Given the description of an element on the screen output the (x, y) to click on. 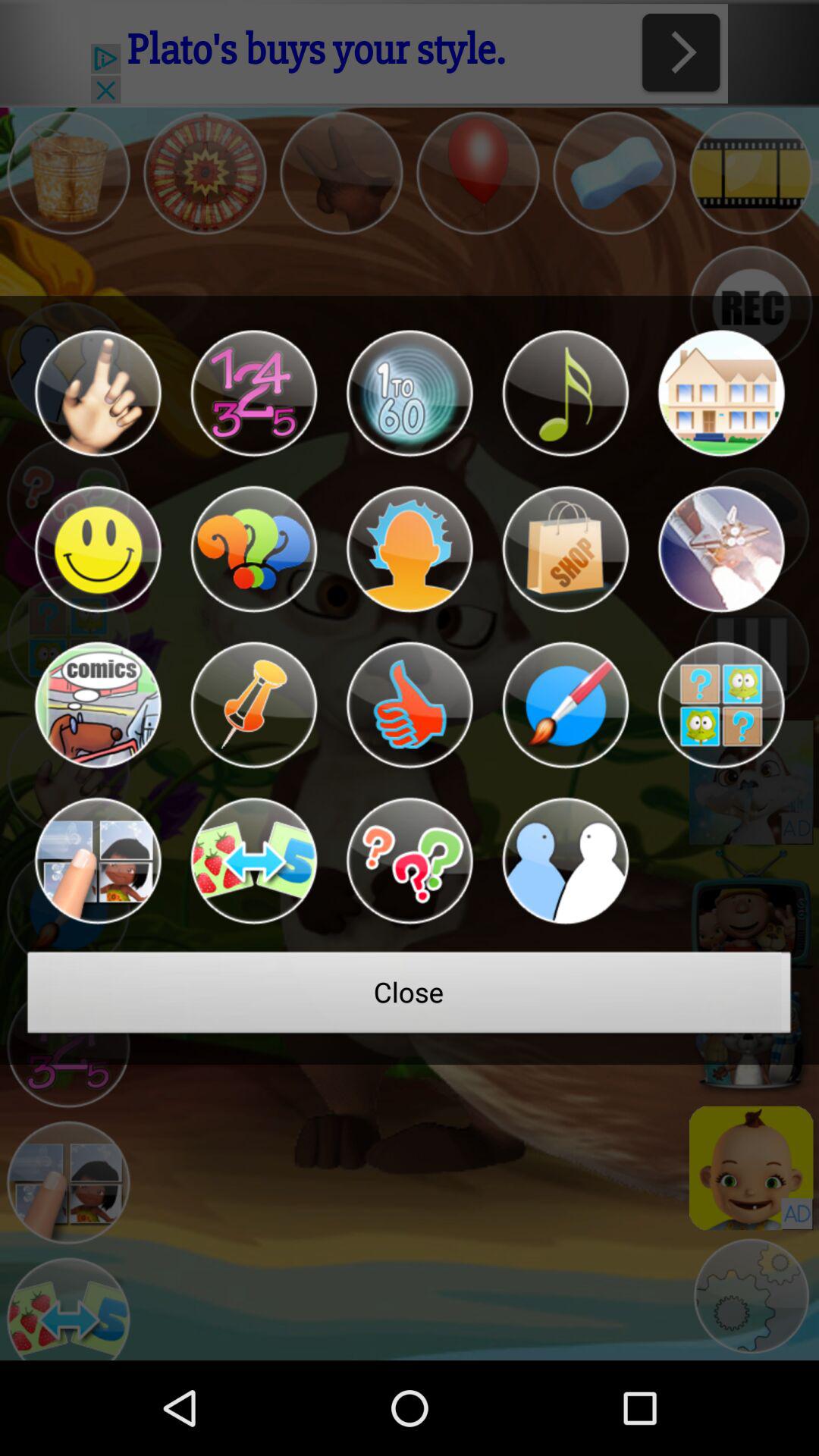
swipe to the close icon (409, 996)
